Given the description of an element on the screen output the (x, y) to click on. 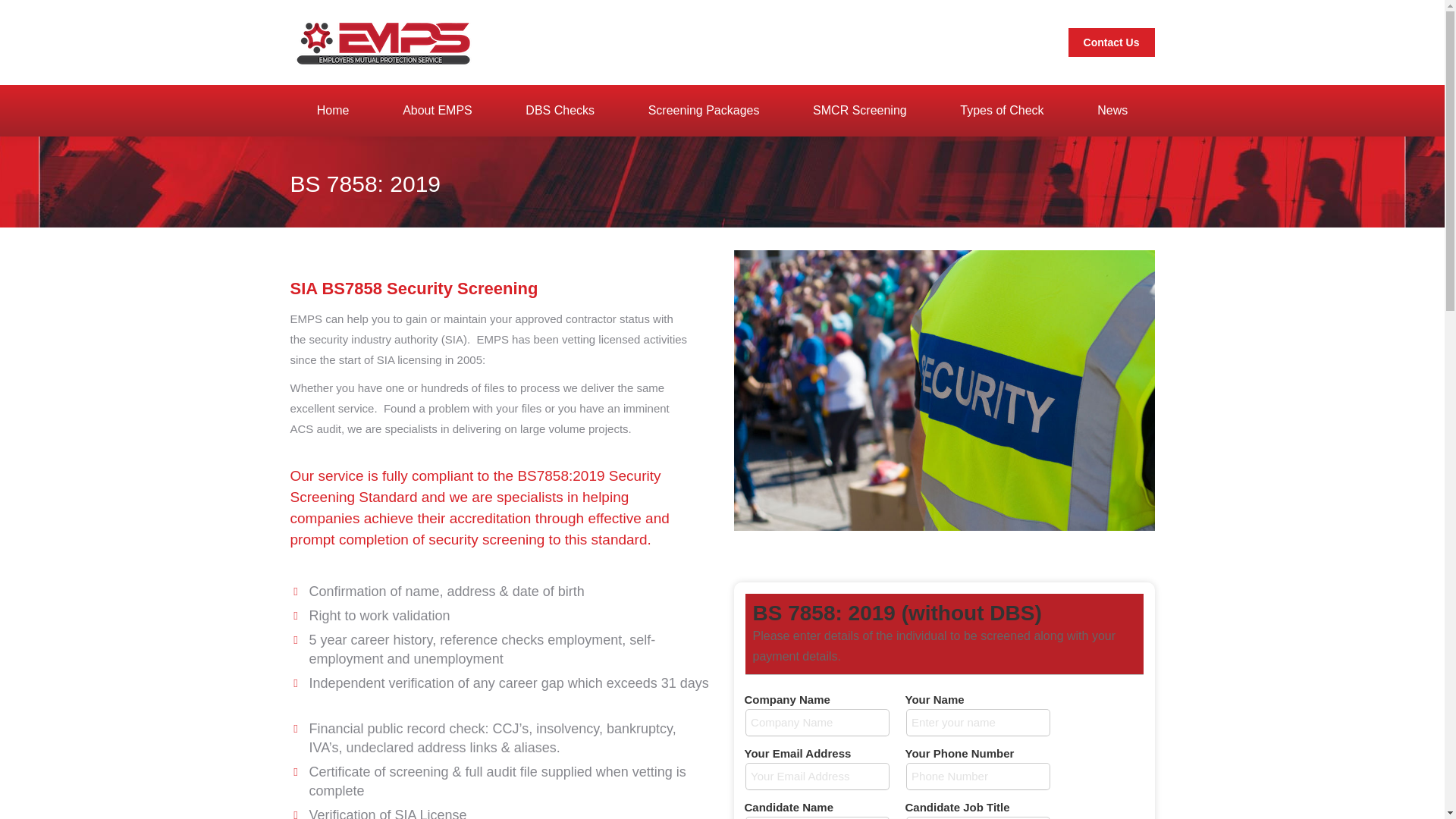
Screening Packages (703, 110)
DBS Checks (560, 110)
About EMPS (437, 110)
News (1112, 110)
Contact Us (1111, 41)
Types of Check (1001, 110)
SMCR Screening (859, 110)
Home (332, 110)
